Given the description of an element on the screen output the (x, y) to click on. 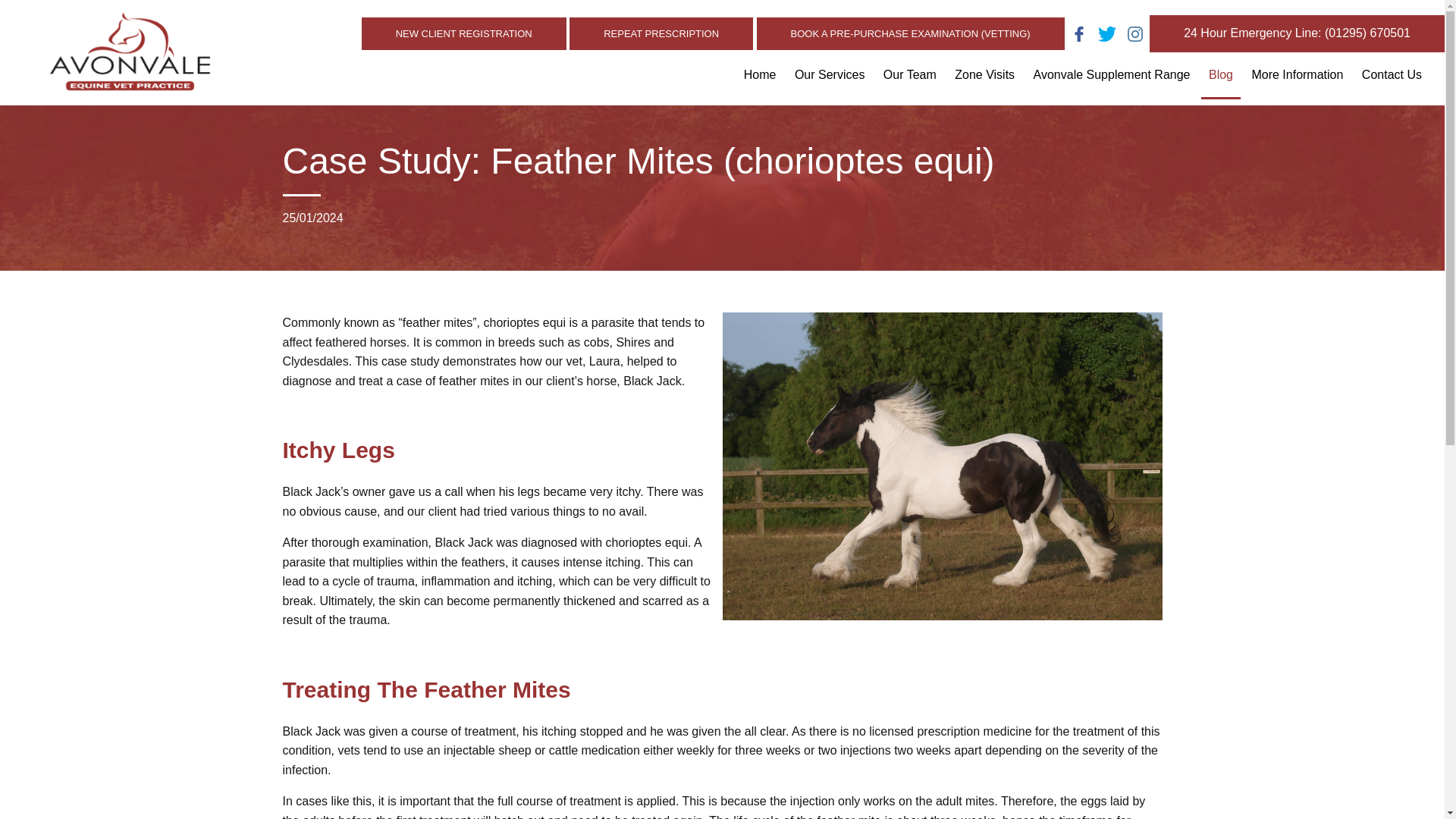
Our Services (829, 80)
Home (760, 80)
